Given the description of an element on the screen output the (x, y) to click on. 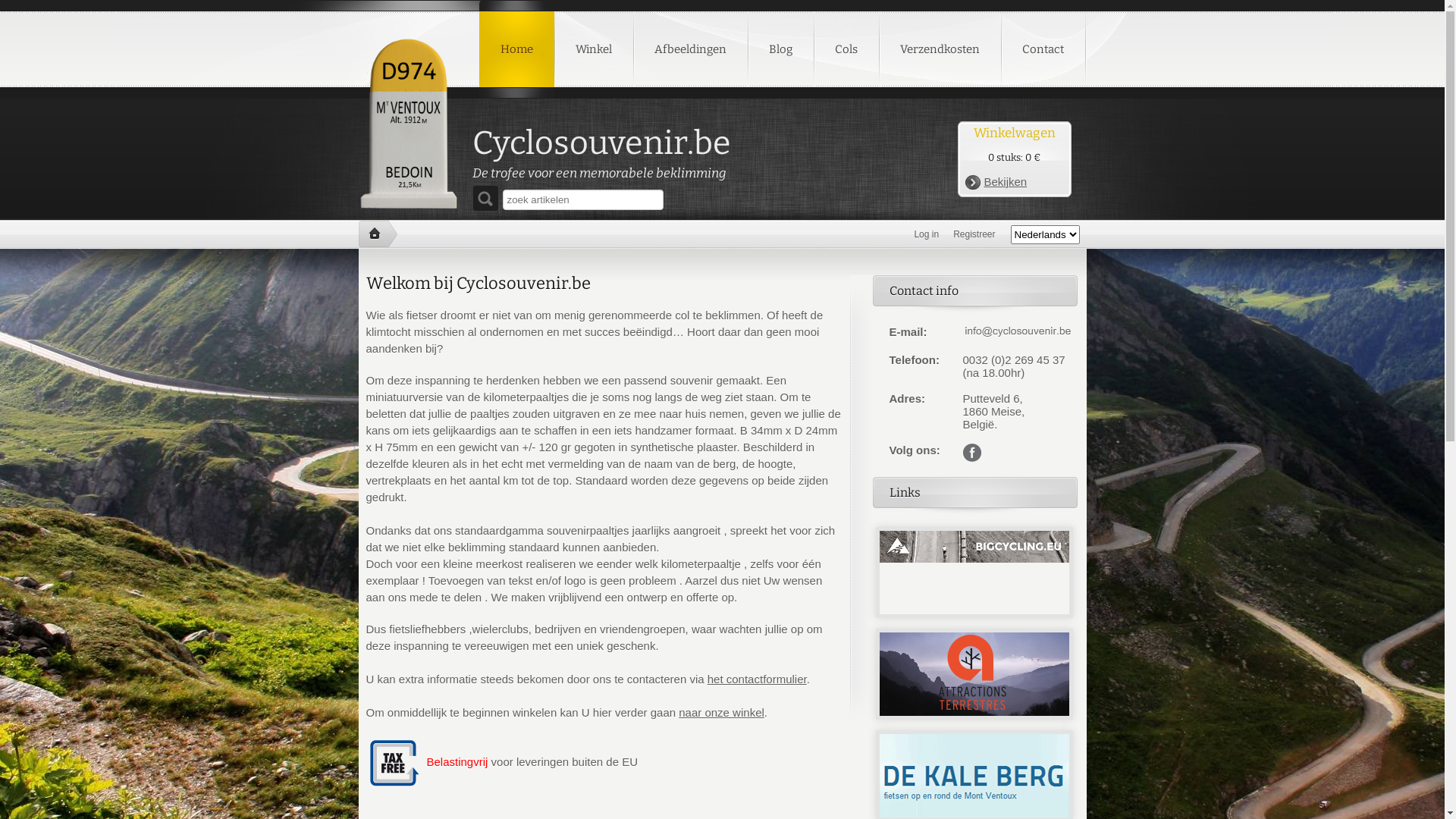
Registreer Element type: text (975, 233)
Blog Element type: text (780, 49)
Afbeeldingen Element type: text (689, 49)
Home Element type: text (516, 49)
Verzendkosten Element type: text (939, 49)
naar onze winkel Element type: text (721, 712)
Winkel Element type: text (592, 49)
het contactformulier Element type: text (756, 678)
Bekijken Element type: text (995, 181)
Facebook Element type: hover (972, 447)
Cols Element type: text (845, 49)
Search Element type: hover (484, 198)
Log in Element type: text (927, 233)
Contact Element type: text (1043, 49)
